Given the description of an element on the screen output the (x, y) to click on. 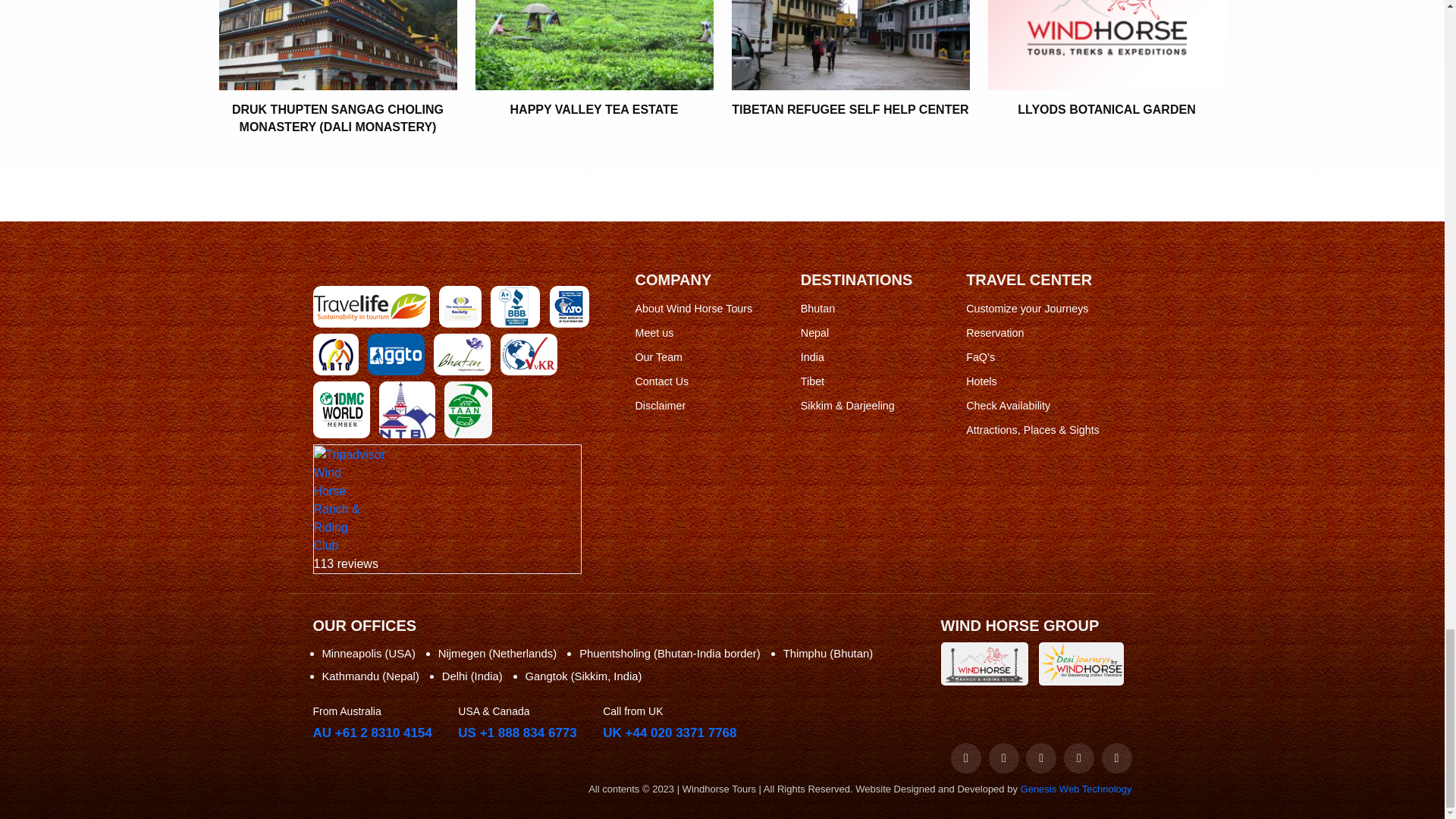
Happy Valley Tea Estate (593, 45)
Tibetan refugee self help center (849, 45)
Llyods botanical garden (1106, 45)
bhutan-horse (987, 663)
